Given the description of an element on the screen output the (x, y) to click on. 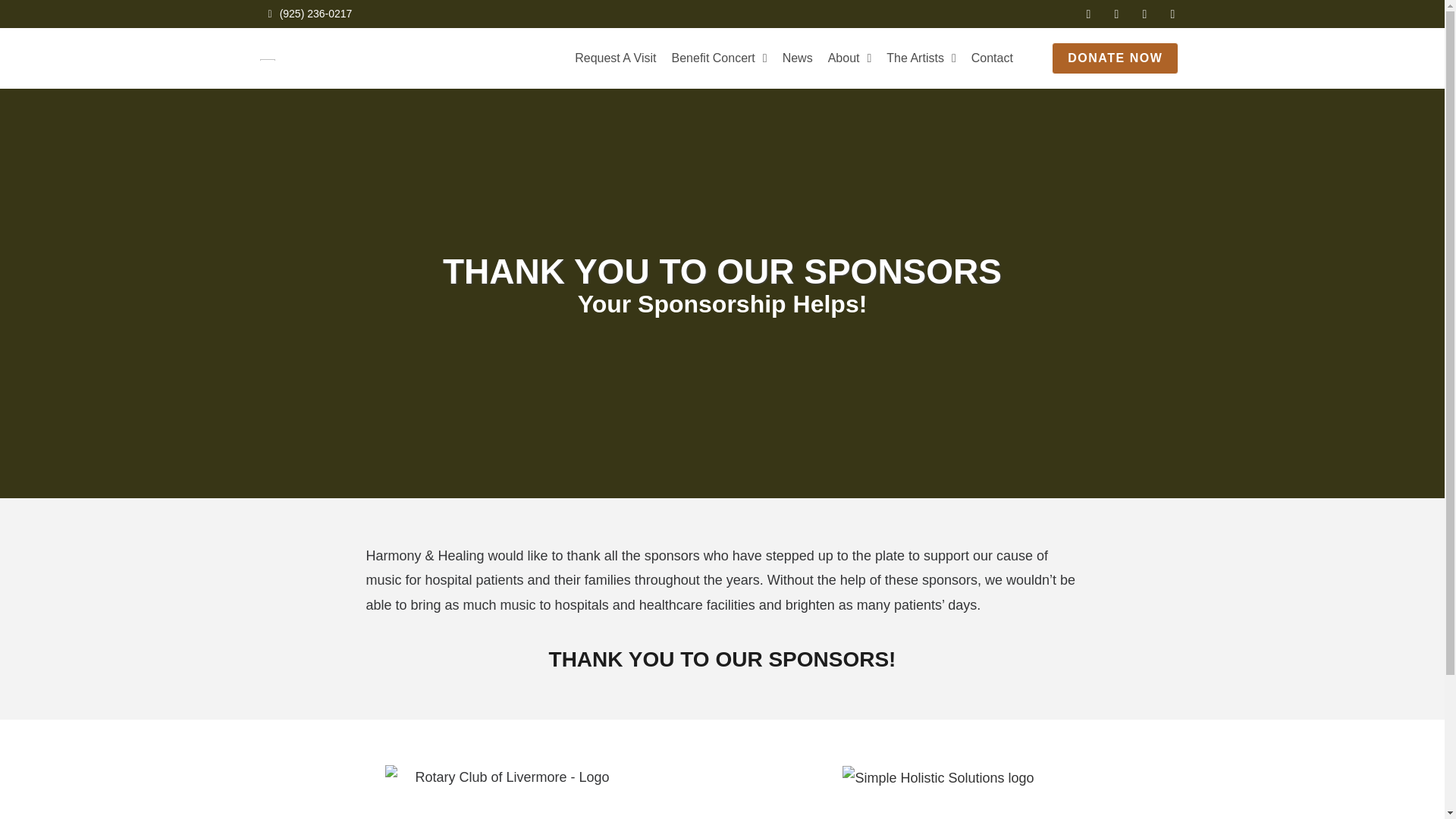
simple-holistic-solutions (938, 777)
The Artists (920, 57)
Benefit Concert (719, 57)
News (797, 57)
Thank You to our Sponsors! 1 (506, 791)
About (850, 57)
Request A Visit (614, 57)
Contact (992, 57)
